Given the description of an element on the screen output the (x, y) to click on. 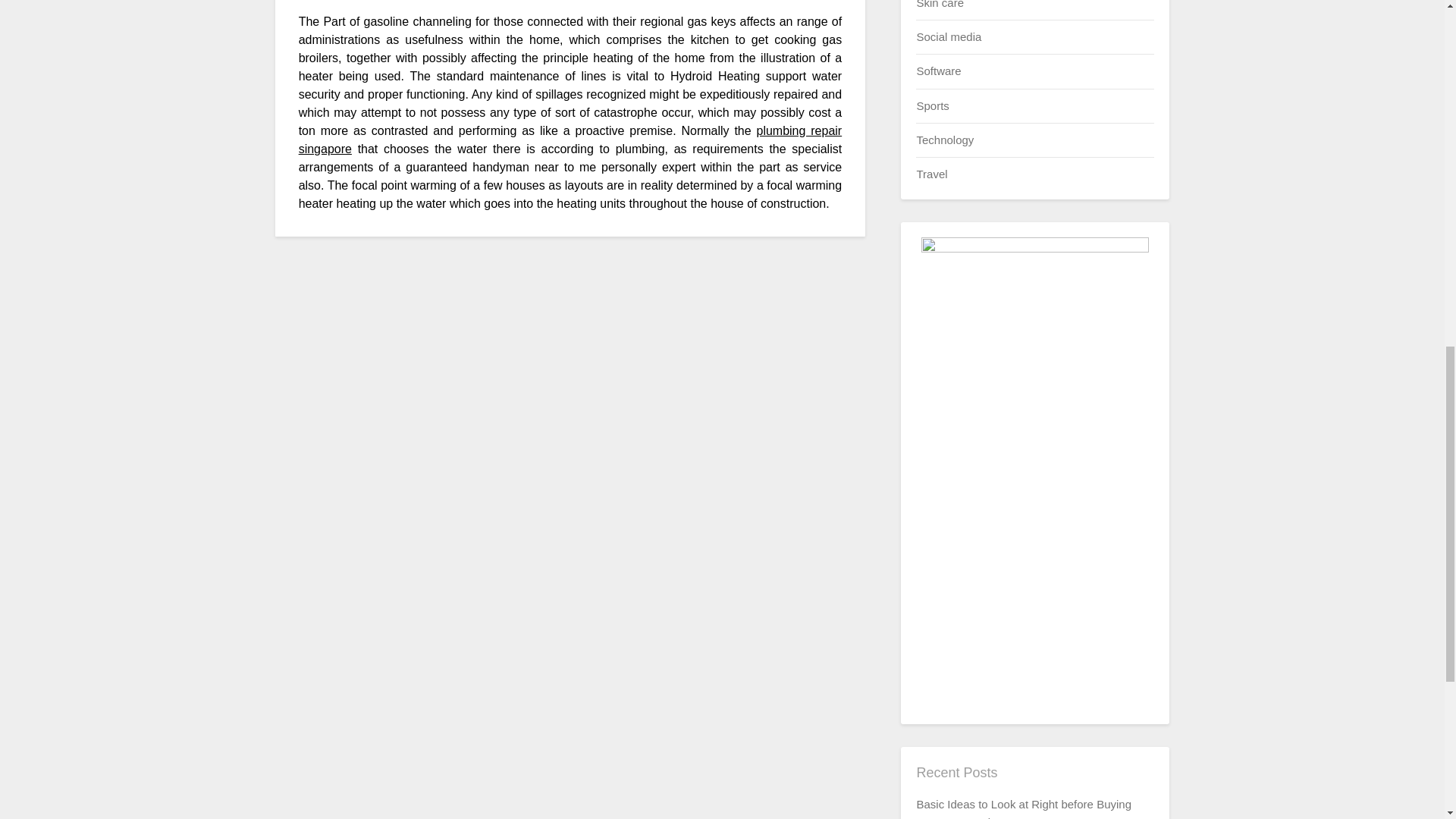
plumbing repair singapore (570, 139)
Skin care (939, 4)
Sports (932, 105)
Technology (944, 139)
Travel (931, 173)
Software (937, 70)
Basic Ideas to Look at Right before Buying Cryptocurrencies (1023, 808)
Social media (948, 36)
